Given the description of an element on the screen output the (x, y) to click on. 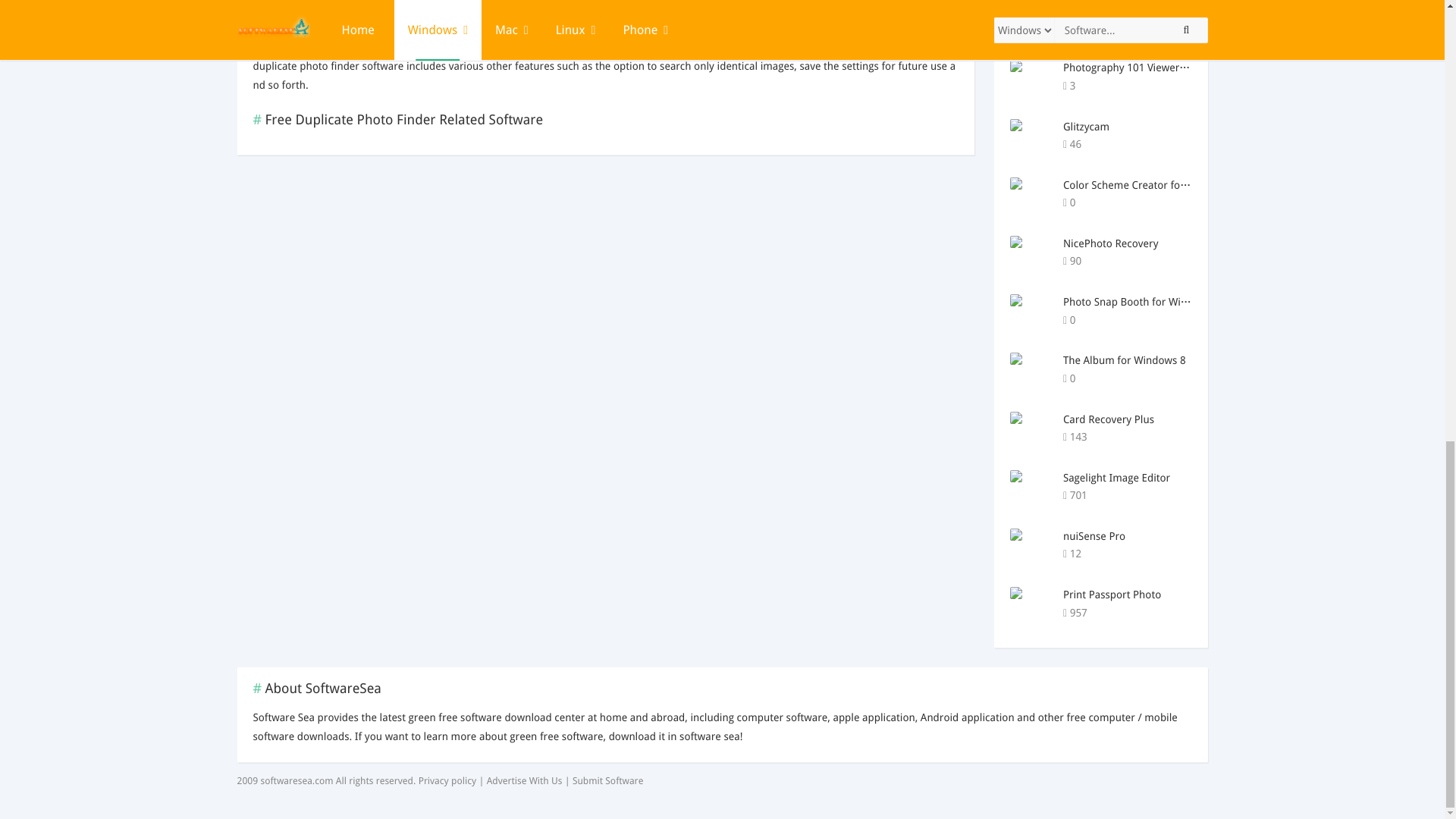
See the photos are on Facebook from your Windows 8 device. (1176, 378)
Design your own template for your virtual photo booth. (1176, 144)
Watch videos from the Photography 101 blog. (1176, 85)
